Given the description of an element on the screen output the (x, y) to click on. 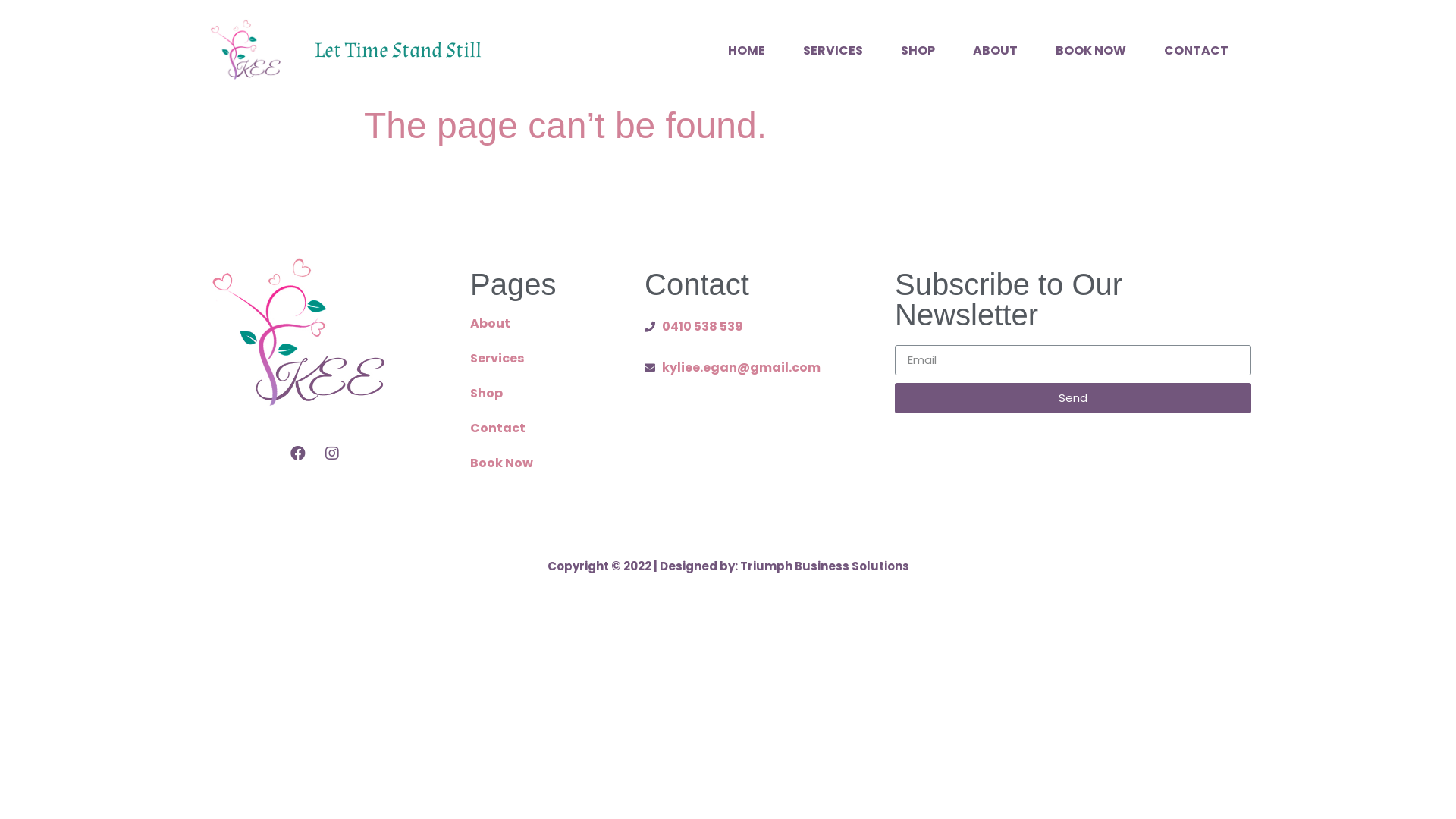
BOOK NOW Element type: text (1090, 50)
SHOP Element type: text (917, 50)
Services Element type: text (542, 358)
HOME Element type: text (746, 50)
Shop Element type: text (542, 393)
Send Element type: text (1072, 397)
Contact Element type: text (542, 428)
kyliee.egan@gmail.com Element type: text (739, 367)
About Element type: text (542, 323)
SERVICES Element type: text (832, 50)
CONTACT Element type: text (1196, 50)
ABOUT Element type: text (994, 50)
0410 538 539 Element type: text (739, 326)
Book Now Element type: text (542, 463)
